Given the description of an element on the screen output the (x, y) to click on. 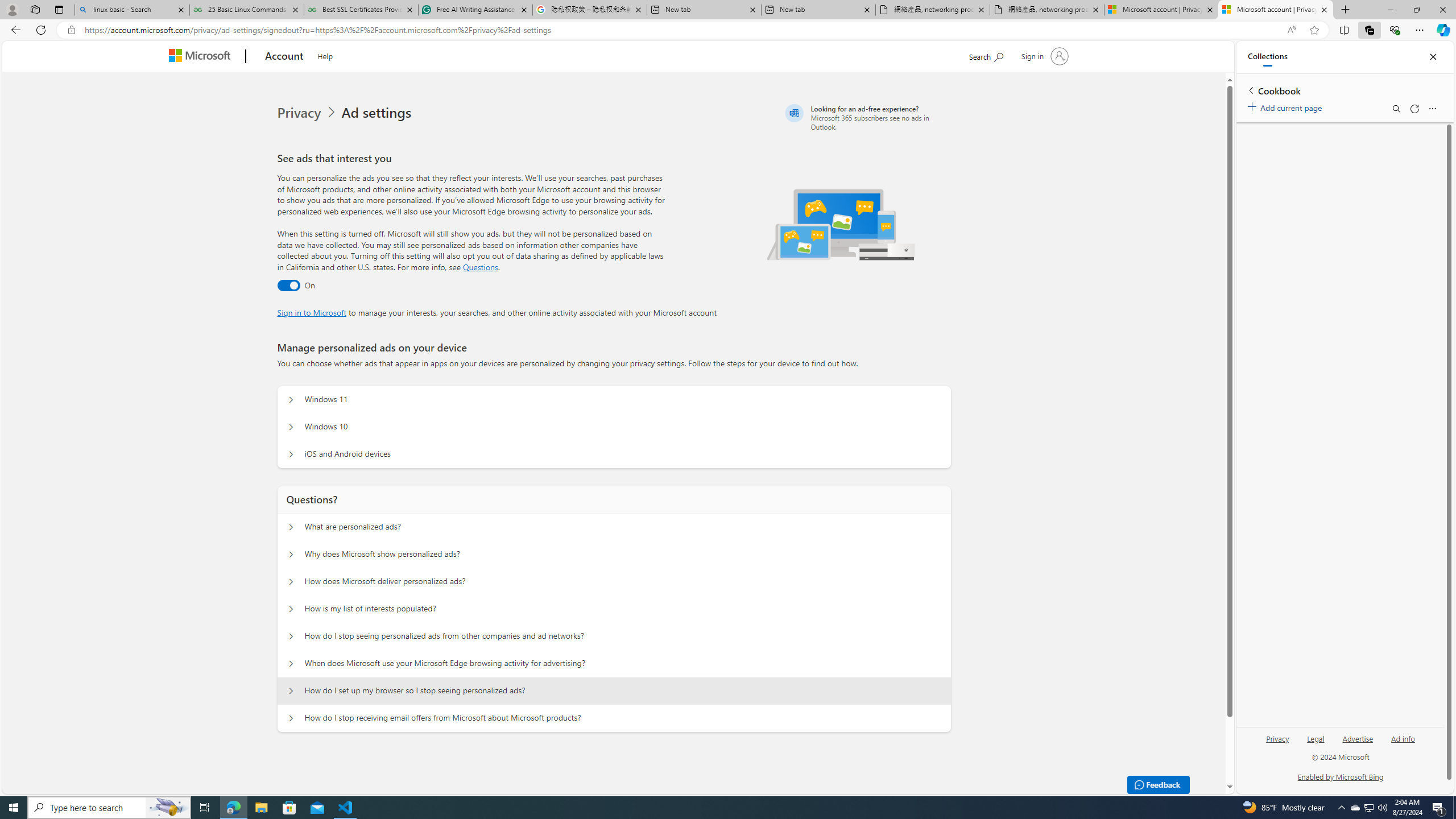
Advertise (1358, 742)
Ad settings (379, 112)
Questions? How is my list of interests populated? (290, 608)
Questions? How does Microsoft deliver personalized ads? (290, 581)
More options menu (1432, 108)
linux basic - Search (132, 9)
